Given the description of an element on the screen output the (x, y) to click on. 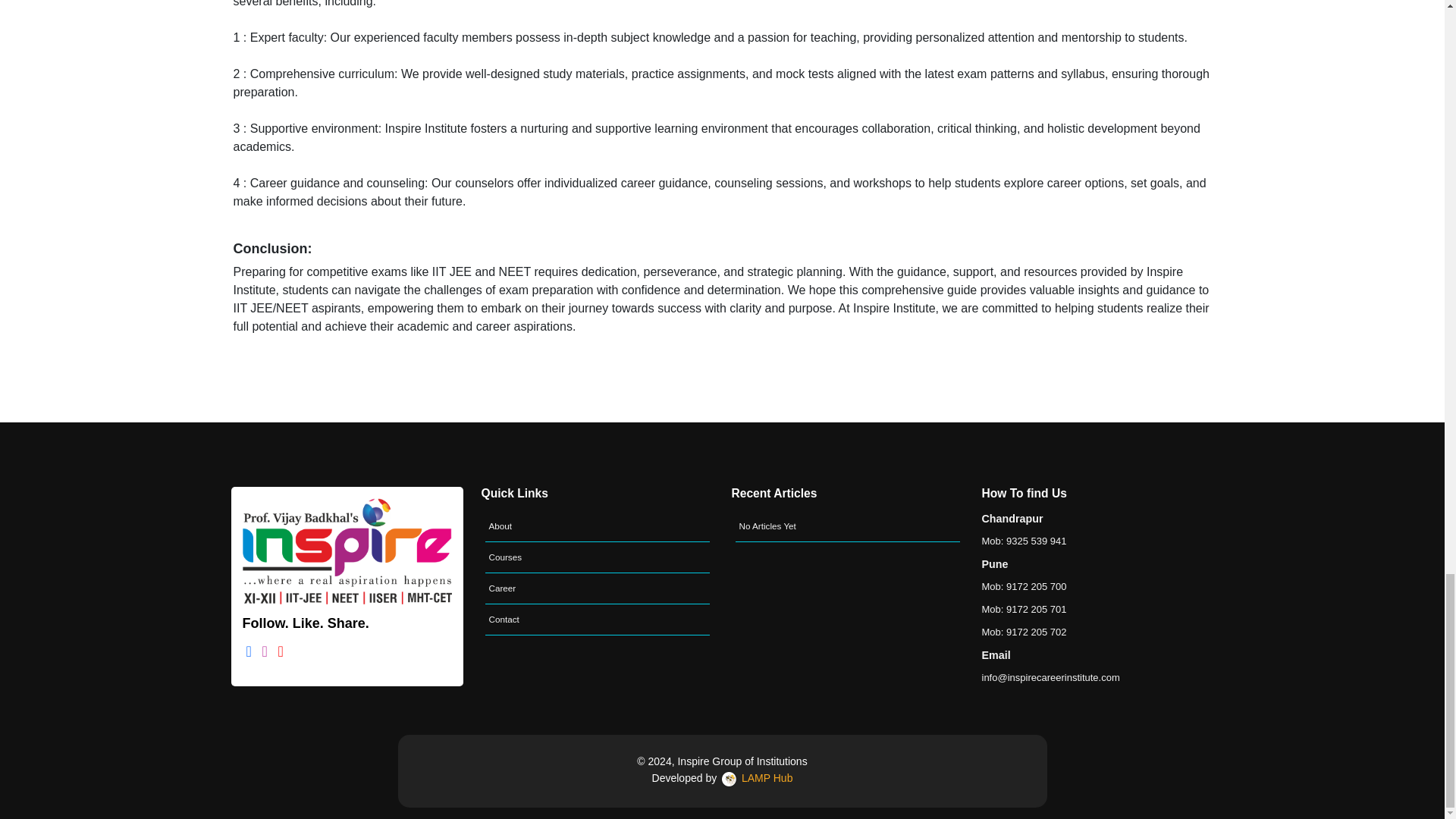
No Articles Yet (847, 526)
Career (597, 588)
Contact (597, 619)
Courses (597, 557)
 LAMP Hub (755, 777)
About (597, 526)
